Given the description of an element on the screen output the (x, y) to click on. 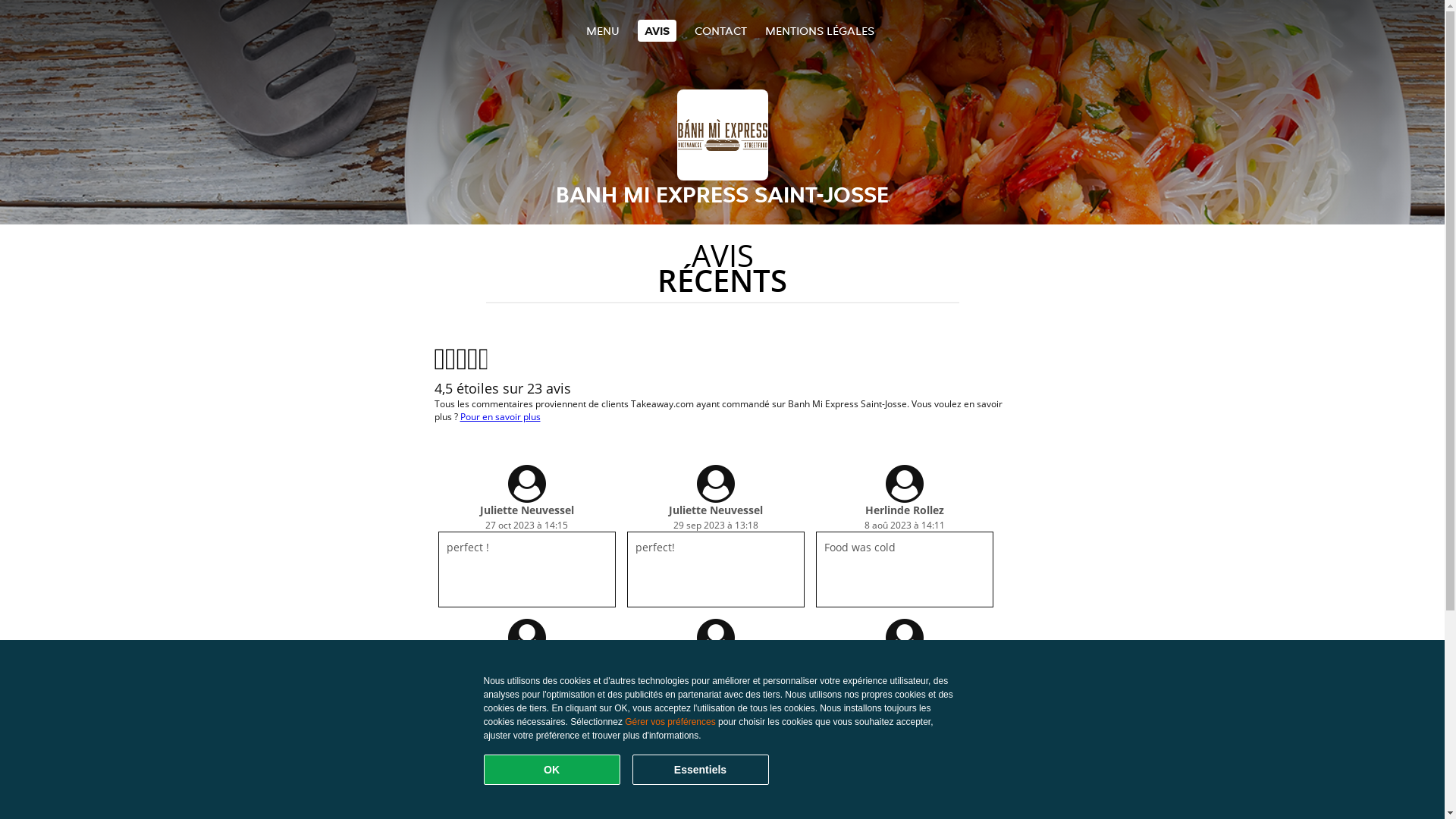
MENU Element type: text (601, 30)
OK Element type: text (551, 769)
AVIS Element type: text (656, 30)
CONTACT Element type: text (720, 30)
Pour en savoir plus Element type: text (499, 416)
Essentiels Element type: text (700, 769)
